Given the description of an element on the screen output the (x, y) to click on. 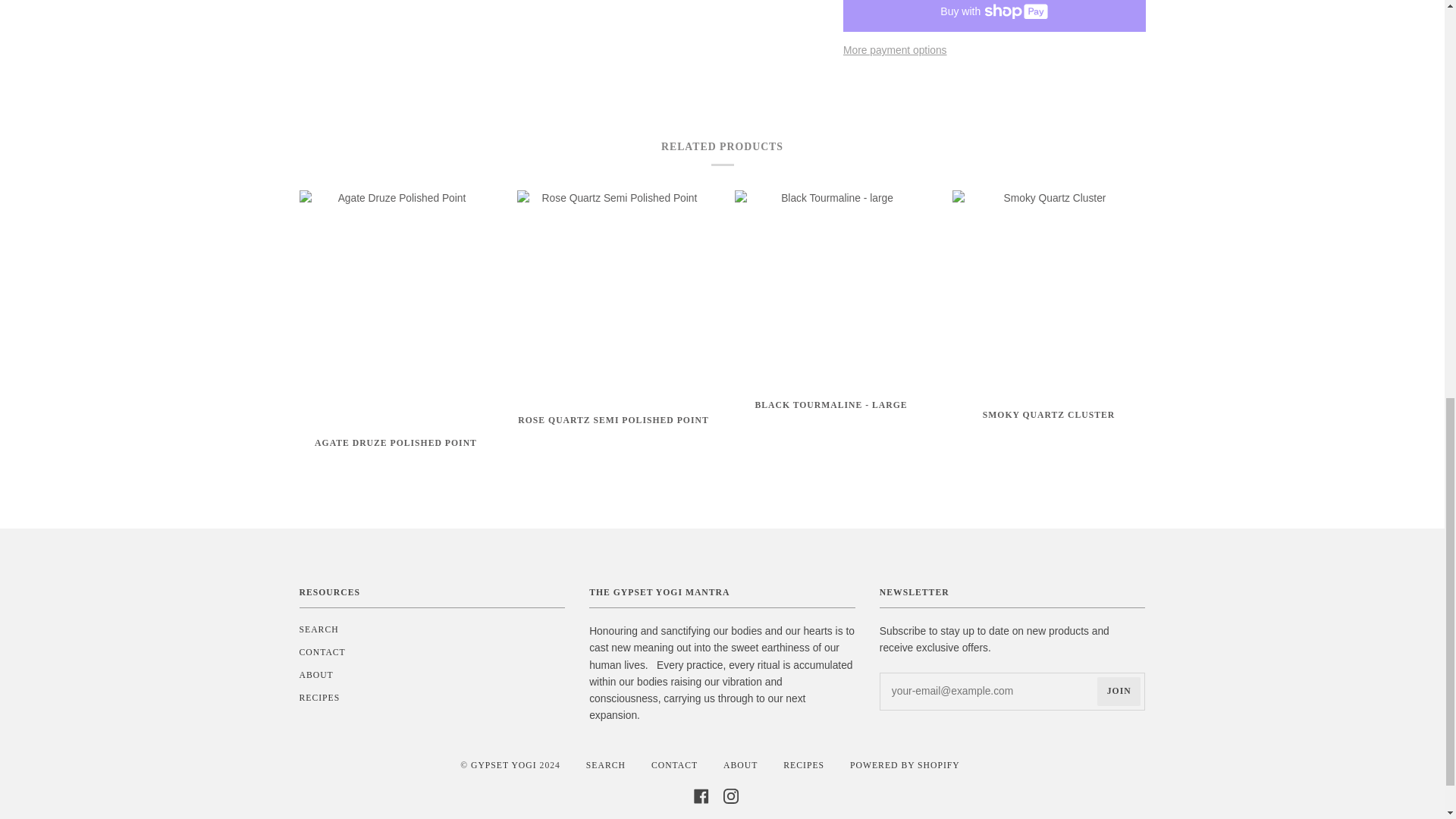
BLACK TOURMALINE - LARGE (830, 415)
ROSE QUARTZ SEMI POLISHED POINT (613, 430)
Facebook (701, 795)
AGATE DRUZE POLISHED POINT (395, 453)
Instagram (730, 795)
More payment options (994, 50)
